Given the description of an element on the screen output the (x, y) to click on. 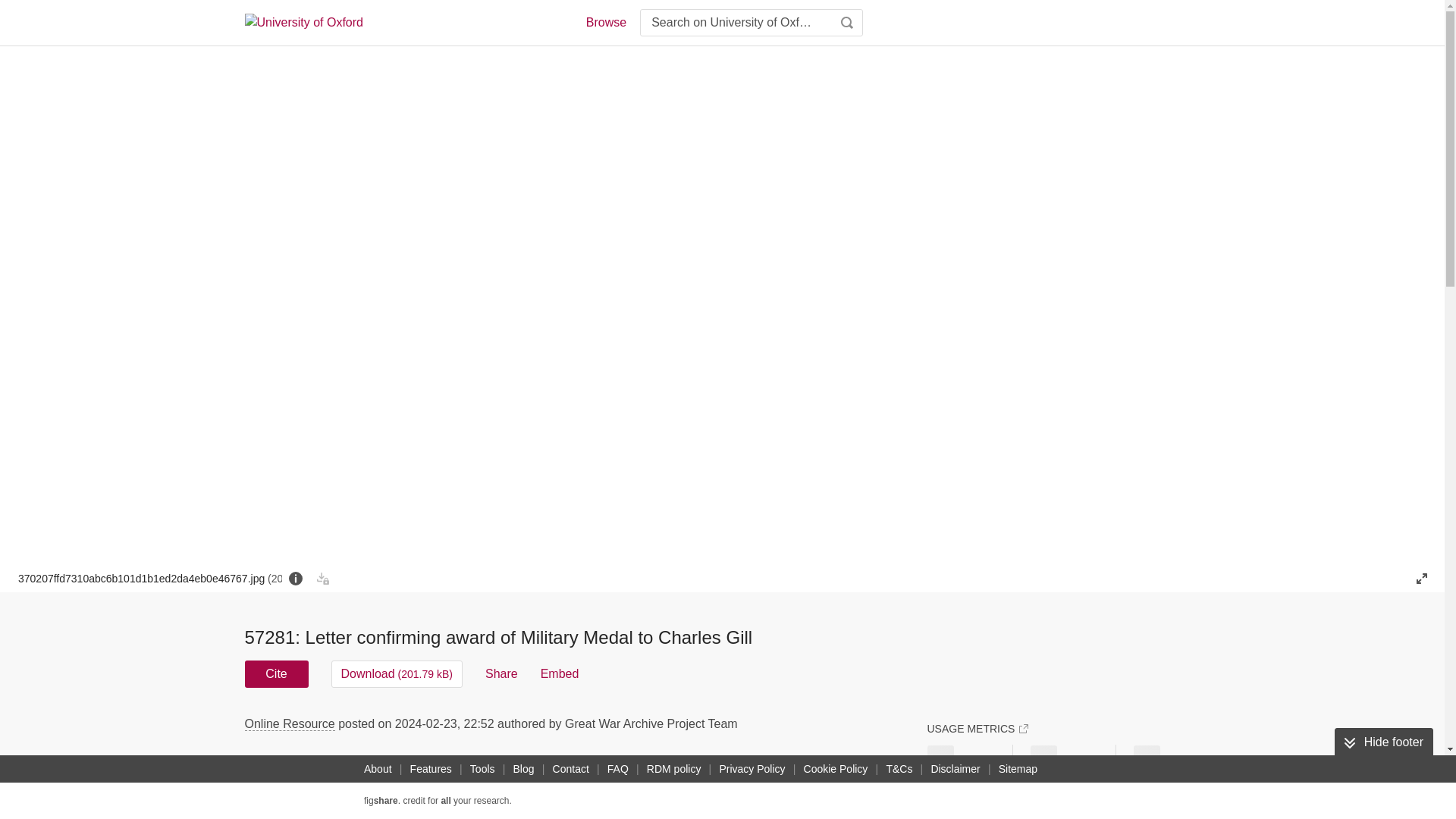
Disclaimer (955, 769)
Contact (571, 769)
Share (501, 673)
Blog (523, 769)
RDM policy (674, 769)
USAGE METRICS (976, 728)
Embed (559, 673)
Browse (605, 22)
370207ffd7310abc6b101d1b1ed2da4eb0e46767.jpg (149, 578)
Cite (275, 673)
Cookie Policy (835, 769)
Privacy Policy (751, 769)
Features (431, 769)
FAQ (617, 769)
About (377, 769)
